Given the description of an element on the screen output the (x, y) to click on. 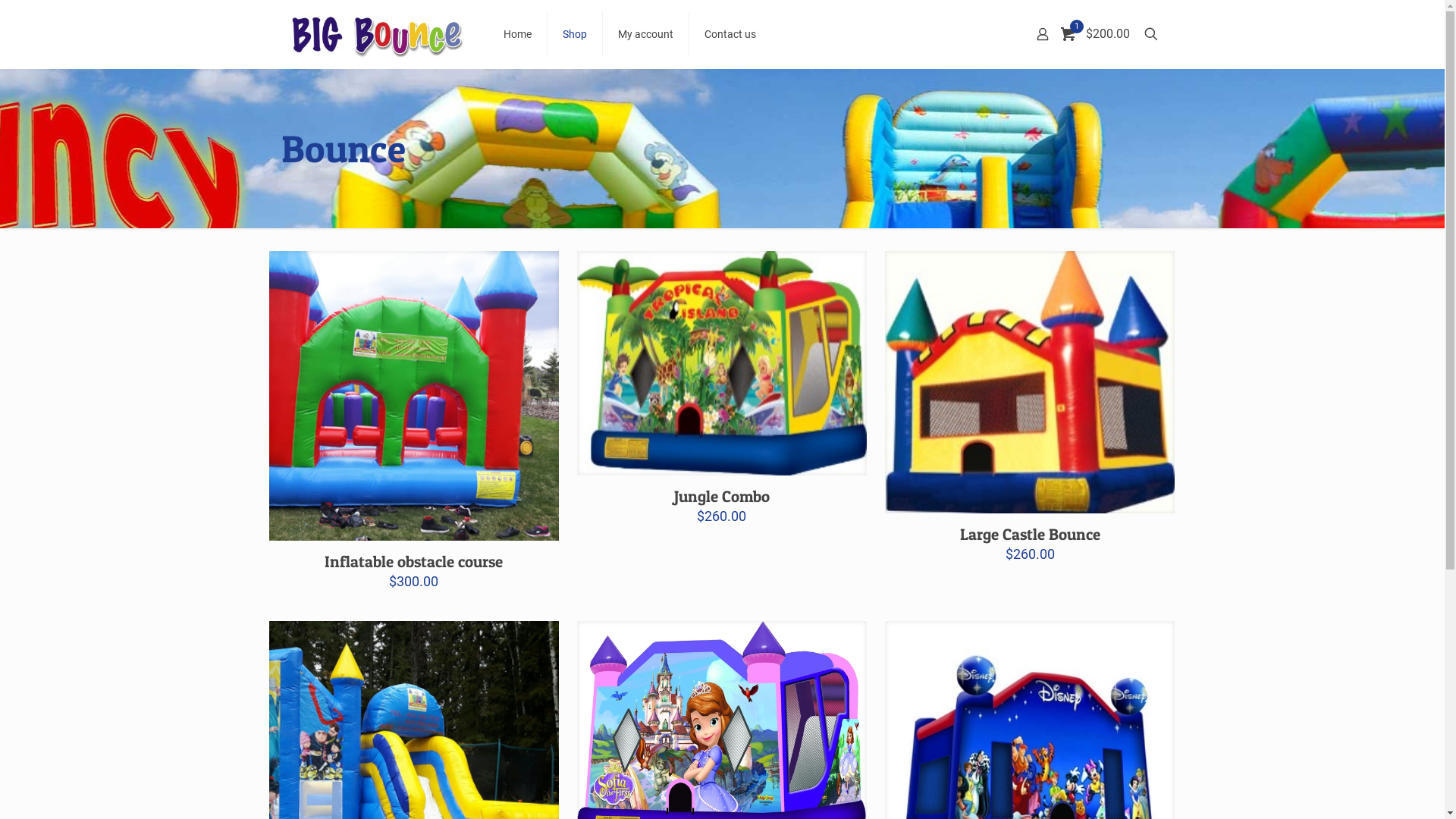
Inflatable obstacle course Element type: text (413, 561)
Contact us Element type: text (730, 34)
Home Element type: text (517, 34)
Shop Element type: text (574, 34)
Large Castle Bounce Element type: text (1030, 533)
Jungle Combo Element type: text (721, 495)
1
$200.00 Element type: text (1096, 33)
My account Element type: text (645, 34)
Big Bounce Castle Element type: hover (373, 34)
